Given the description of an element on the screen output the (x, y) to click on. 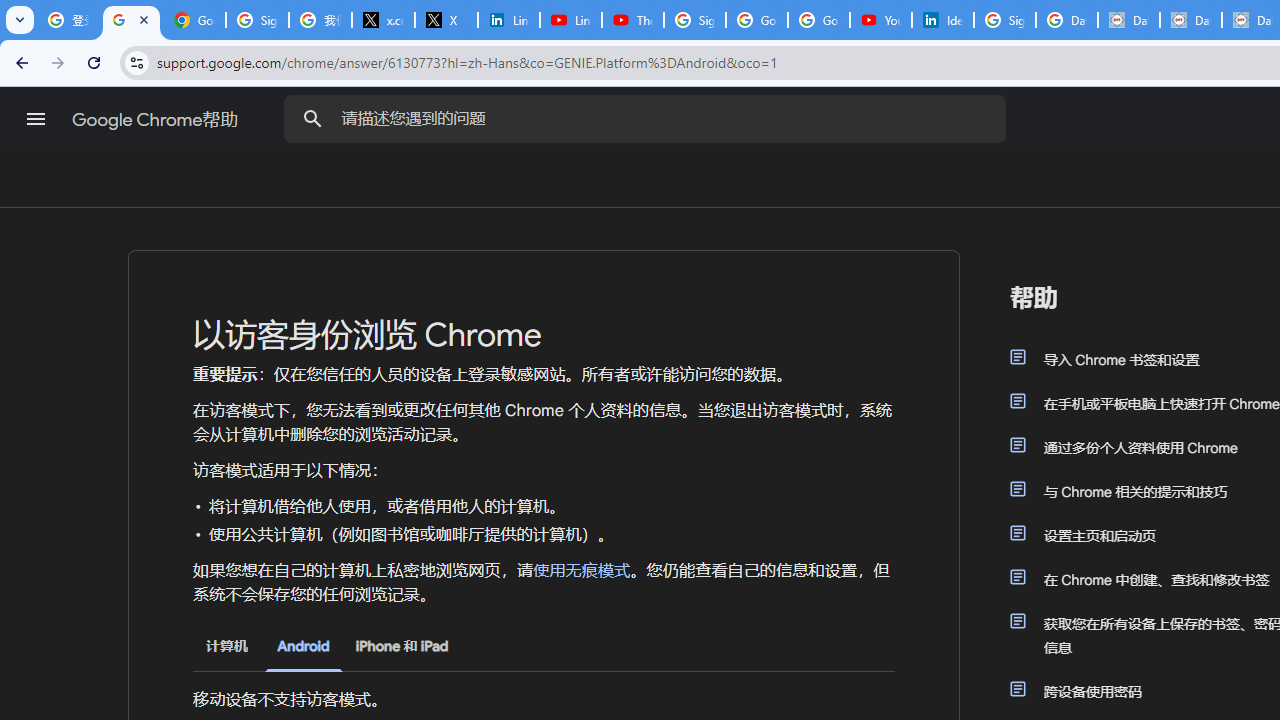
LinkedIn Privacy Policy (508, 20)
Sign in - Google Accounts (694, 20)
Android (303, 646)
